Given the description of an element on the screen output the (x, y) to click on. 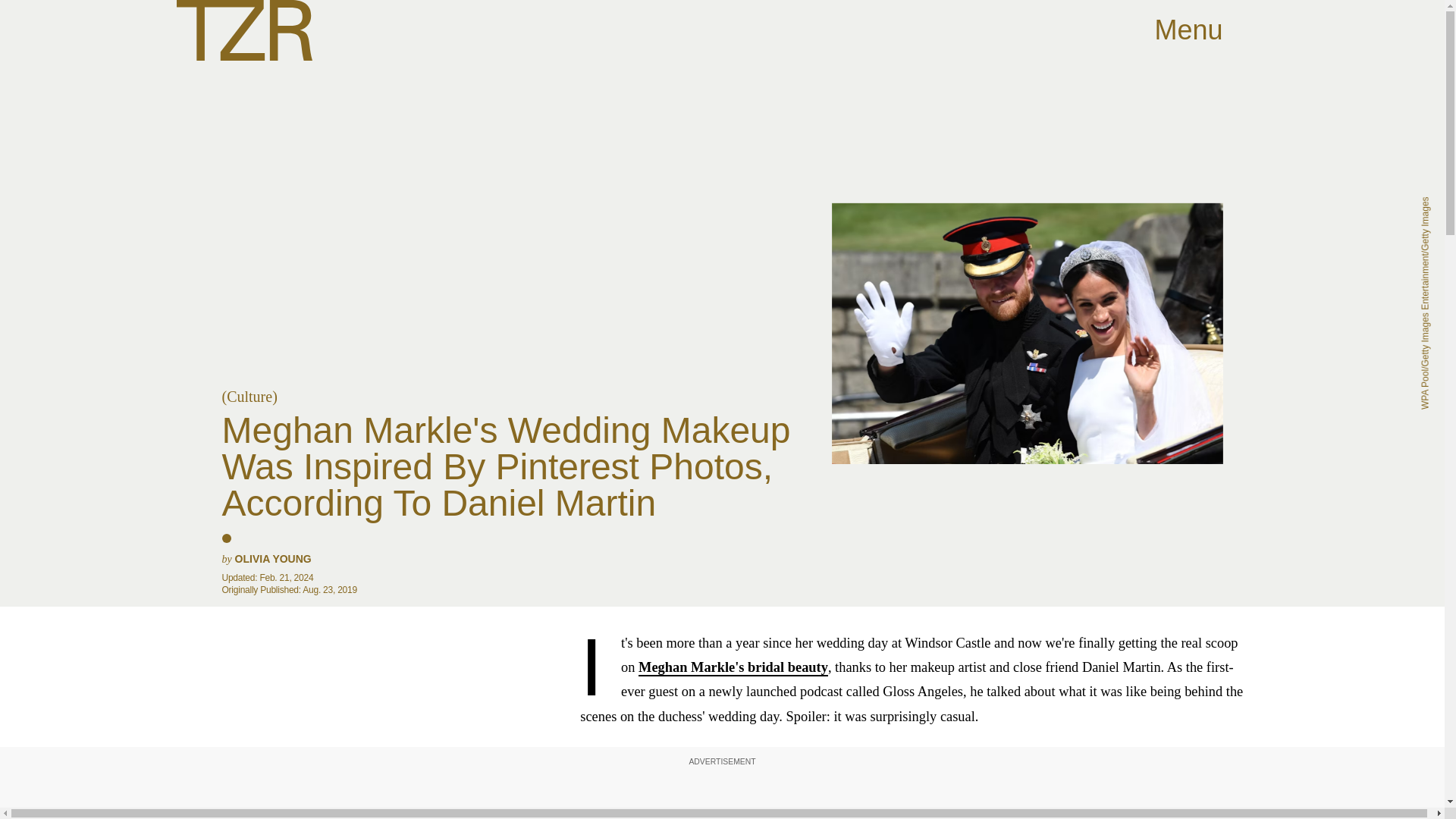
OLIVIA YOUNG (272, 558)
Meghan Markle's bridal beauty (733, 668)
The Zoe Report (243, 30)
